Given the description of an element on the screen output the (x, y) to click on. 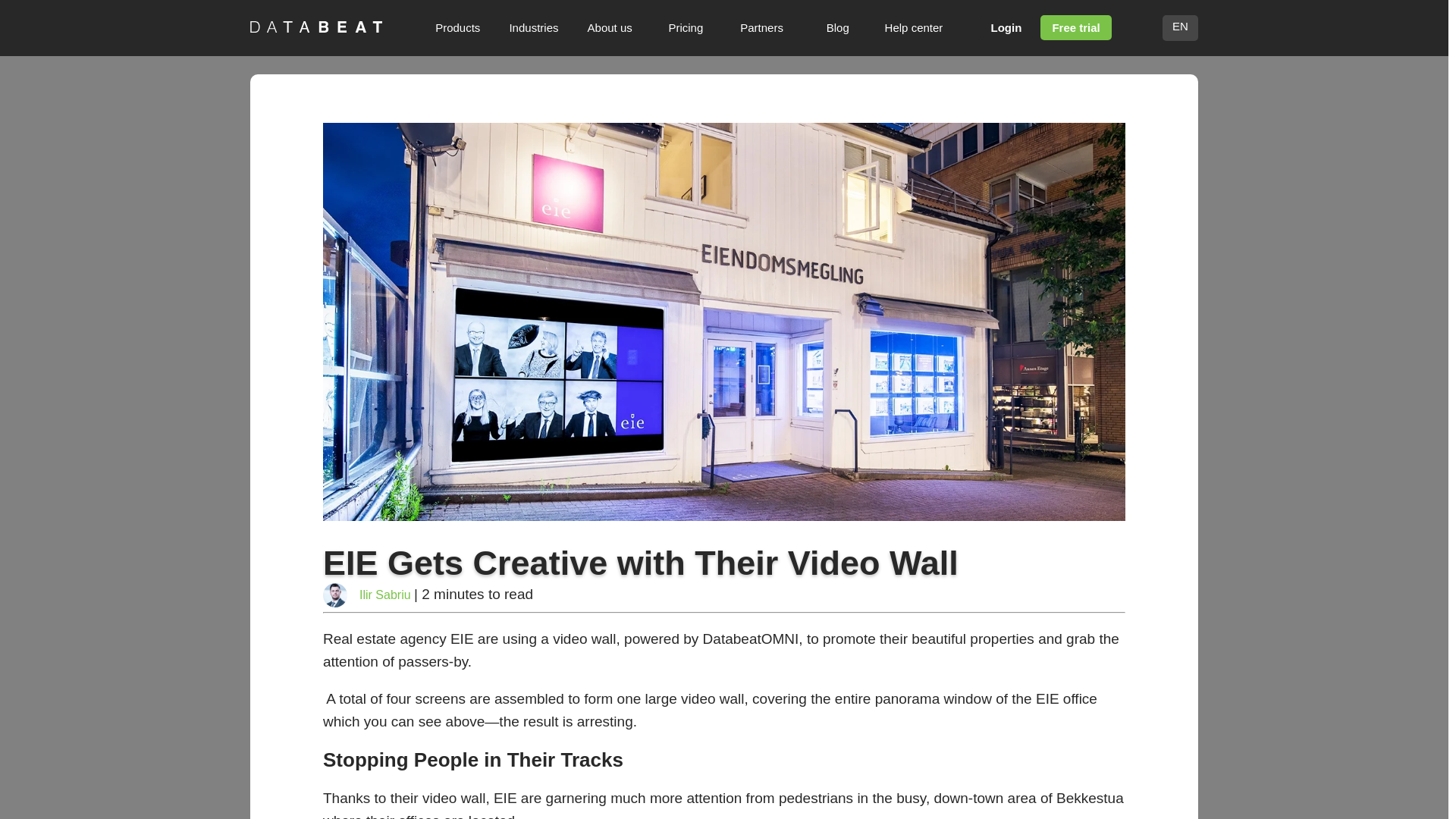
Industries (533, 27)
About us (609, 27)
Free trial (1075, 27)
Help center (913, 27)
Login (1006, 27)
Partners (761, 27)
Blog (837, 27)
Pricing (685, 27)
Products (457, 27)
